Given the description of an element on the screen output the (x, y) to click on. 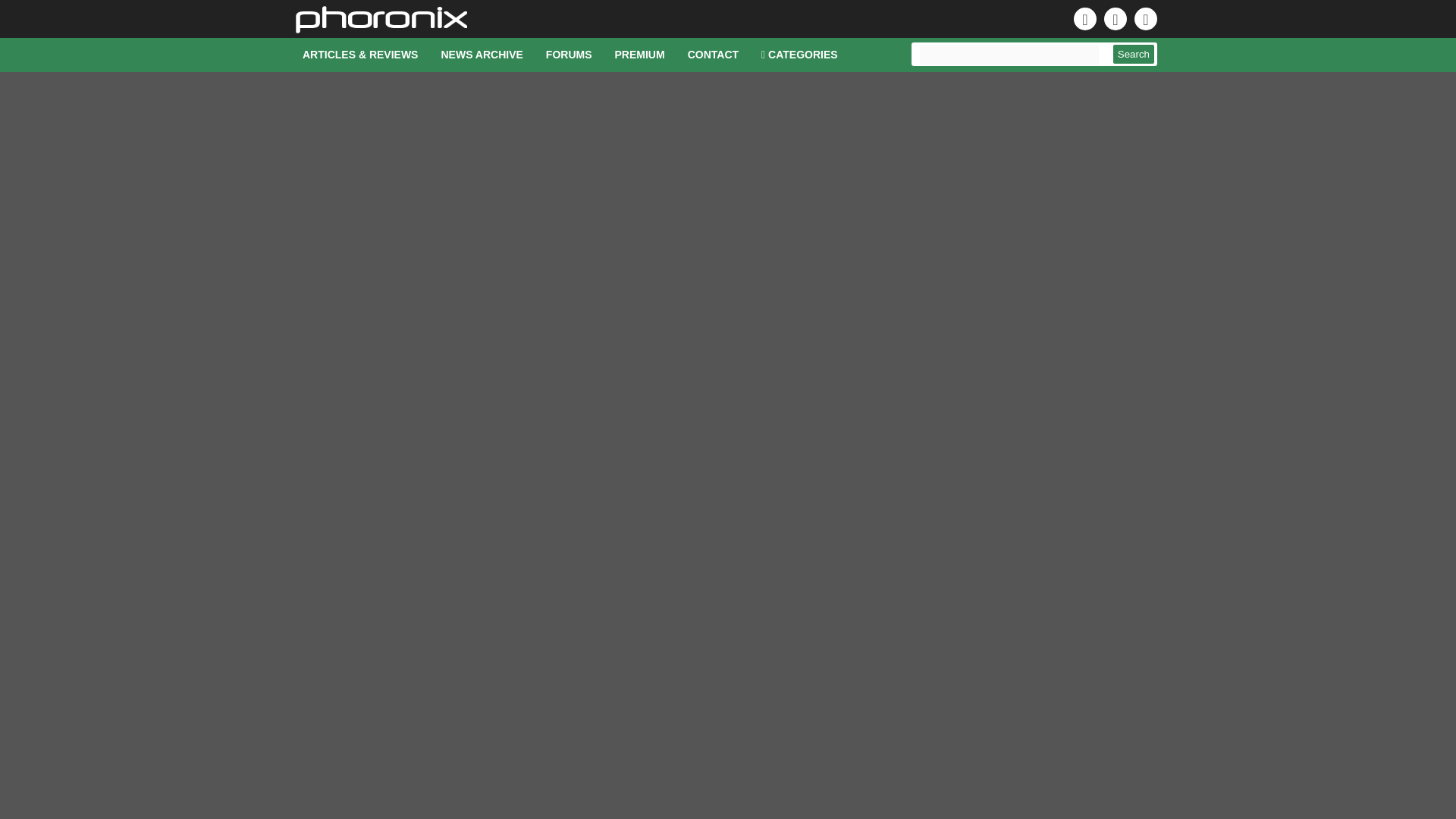
Search (1133, 54)
NEWS ARCHIVE (481, 54)
Search (1133, 54)
FORUMS (569, 54)
PREMIUM (640, 54)
CONTACT (713, 54)
